Given the description of an element on the screen output the (x, y) to click on. 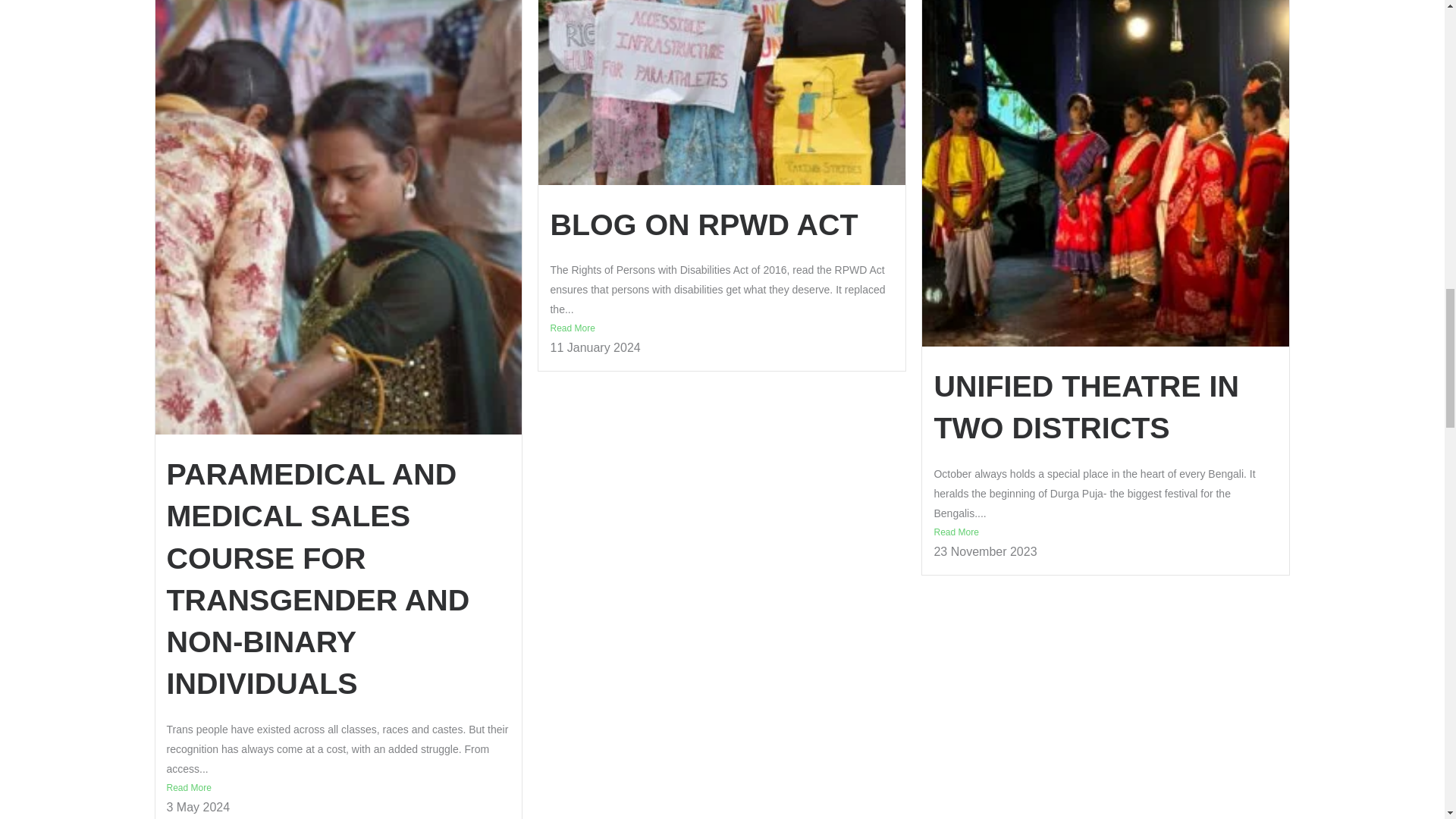
BLOG ON RPWD ACT (703, 224)
Read More (339, 787)
Read More (1105, 532)
Blog on RPWD Act (703, 224)
Read More (721, 328)
UNIFIED THEATRE IN TWO DISTRICTS (1086, 406)
Unified Theatre in two districts (1086, 406)
